Given the description of an element on the screen output the (x, y) to click on. 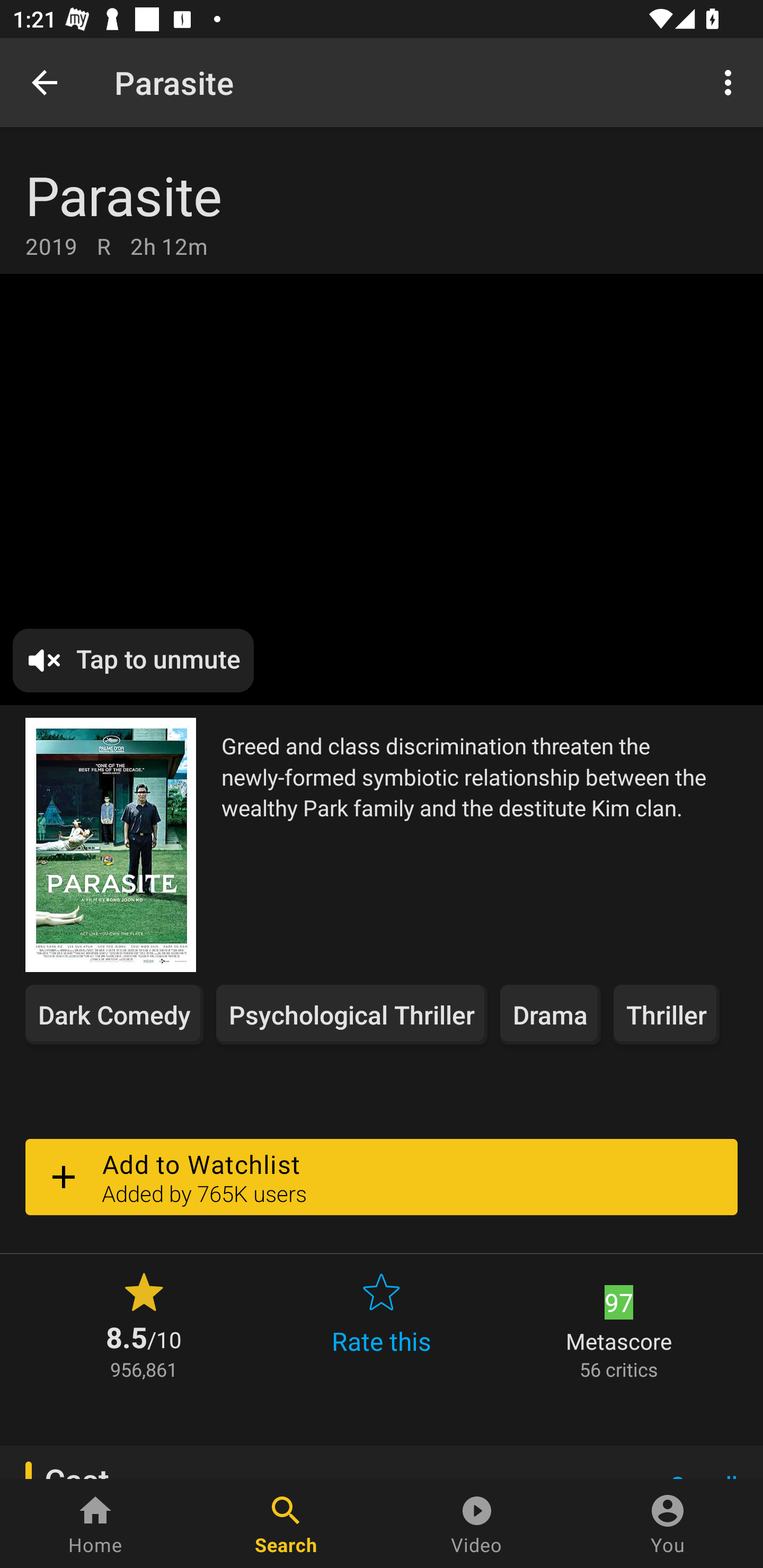
More options (731, 81)
Tap to unmute (133, 660)
Dark Comedy (114, 1014)
Psychological Thriller (351, 1014)
Drama (550, 1014)
Thriller (666, 1014)
Add to Watchlist Added by 765K users (381, 1176)
8.5 /10 956,861 (143, 1323)
Rate this (381, 1323)
97 Metascore 56 critics (618, 1323)
Home (95, 1523)
Video (476, 1523)
You (667, 1523)
